Given the description of an element on the screen output the (x, y) to click on. 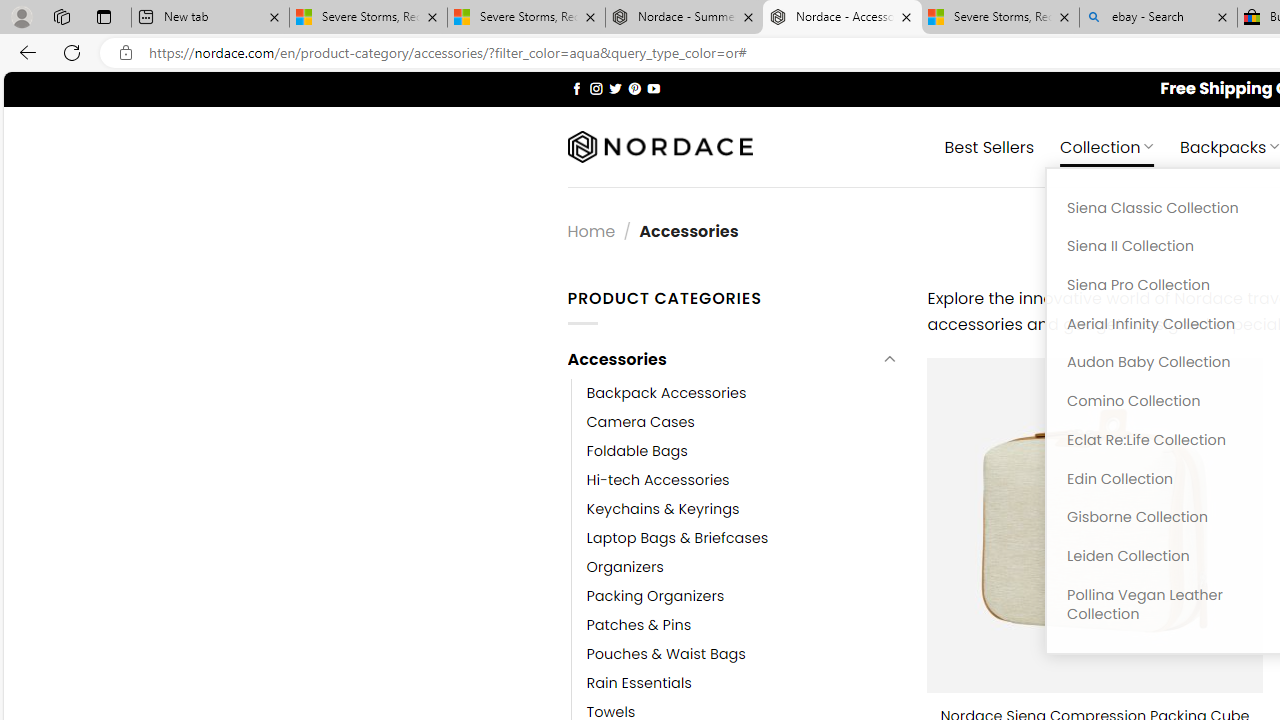
Foldable Bags (637, 450)
Organizers (625, 566)
Backpack Accessories (742, 393)
Packing Organizers (742, 596)
Organizers (742, 566)
Hi-tech Accessories (657, 480)
Rain Essentials (742, 683)
